Given the description of an element on the screen output the (x, y) to click on. 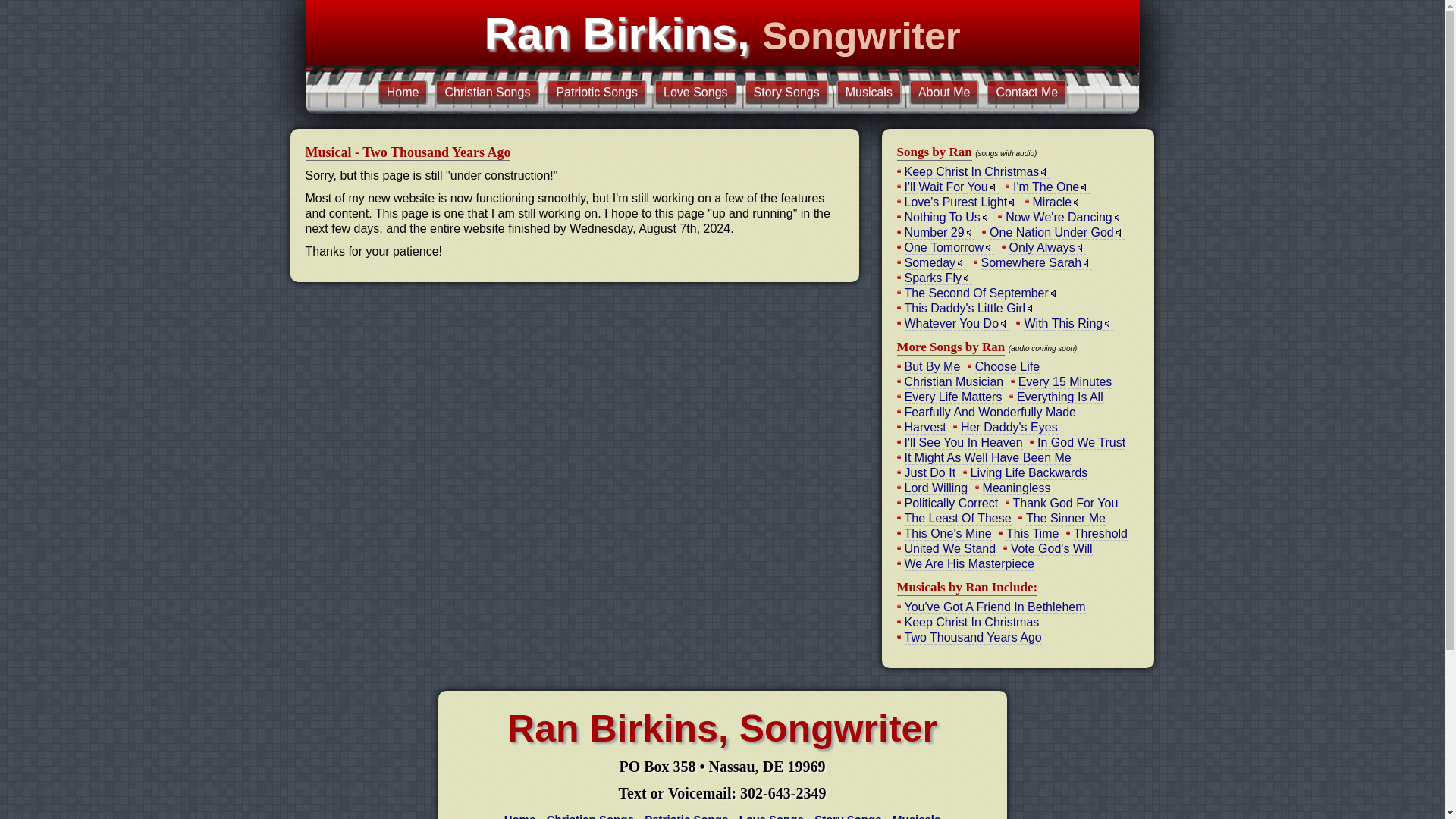
Now We're Dancing (1064, 217)
Keep Christ In Christmas (976, 172)
Miracle (1057, 202)
Whatever You Do (956, 323)
But By Me (931, 366)
Patriotic Songs (596, 92)
Musicals (868, 92)
I'll Wait For You (950, 187)
Love's Purest Light (960, 202)
Only Always (1047, 247)
Choose Life (1007, 366)
This Daddy's Little Girl (969, 308)
I'll See You In Heaven (963, 442)
The Second Of September (981, 293)
Number 29 (939, 232)
